Given the description of an element on the screen output the (x, y) to click on. 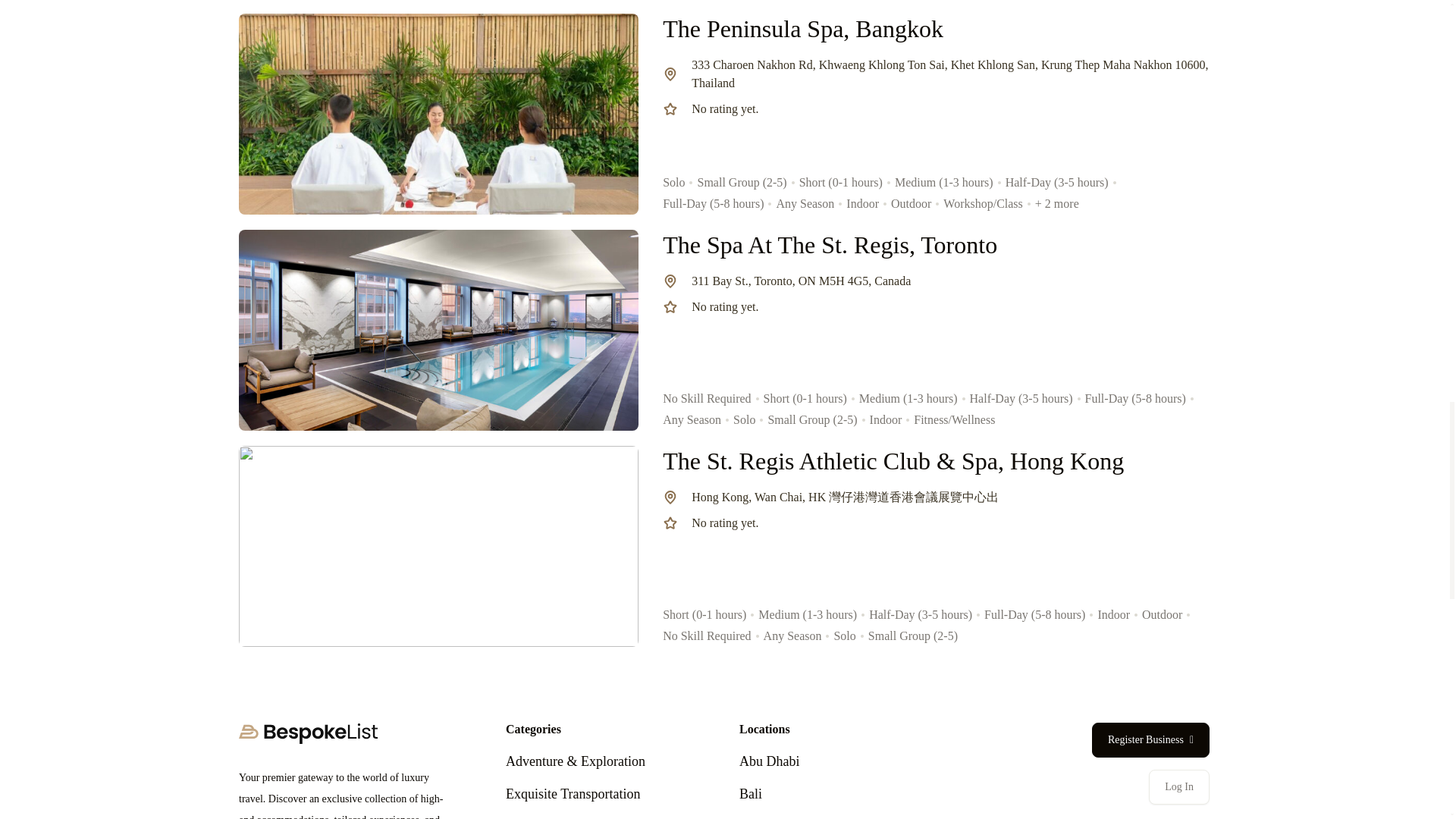
The Peninsula Spa, Bangkok (802, 28)
The Spa At The St. Regis, Toronto (829, 244)
Bali (750, 792)
Barcelona (766, 818)
Abu Dhabi (769, 761)
Exquisite Transportation (572, 792)
